Given the description of an element on the screen output the (x, y) to click on. 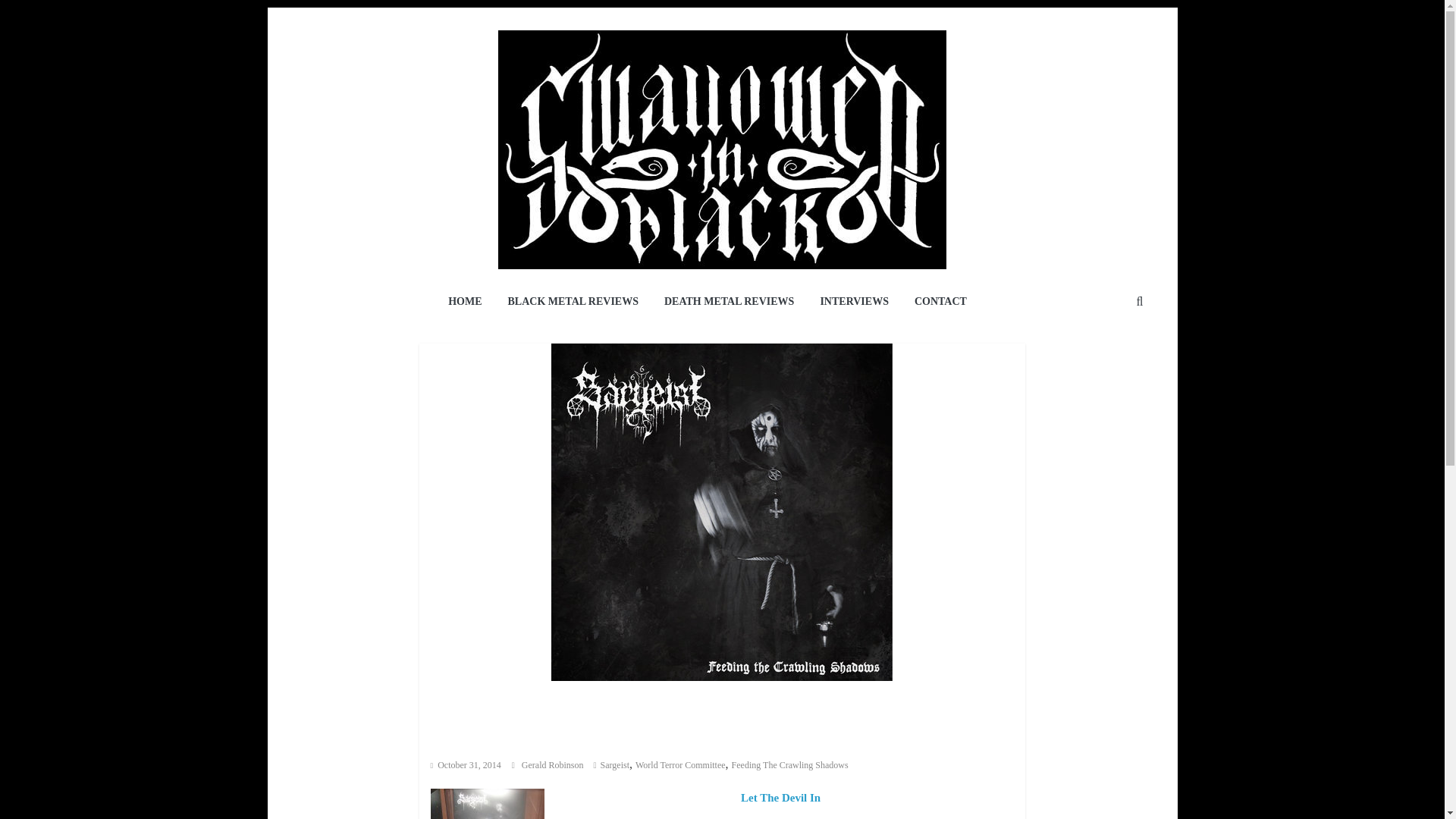
Let The Devil In (781, 797)
INTERVIEWS (853, 302)
Gerald Robinson (553, 765)
BLACK METAL REVIEWS (572, 302)
World Terror Committee (679, 765)
Gerald Robinson (553, 765)
October 31, 2014 (465, 765)
HOME (464, 302)
Feeding The Crawling Shadows (790, 765)
22:21 (465, 765)
CONTACT (940, 302)
Sargeist (613, 765)
DEATH METAL REVIEWS (728, 302)
